Given the description of an element on the screen output the (x, y) to click on. 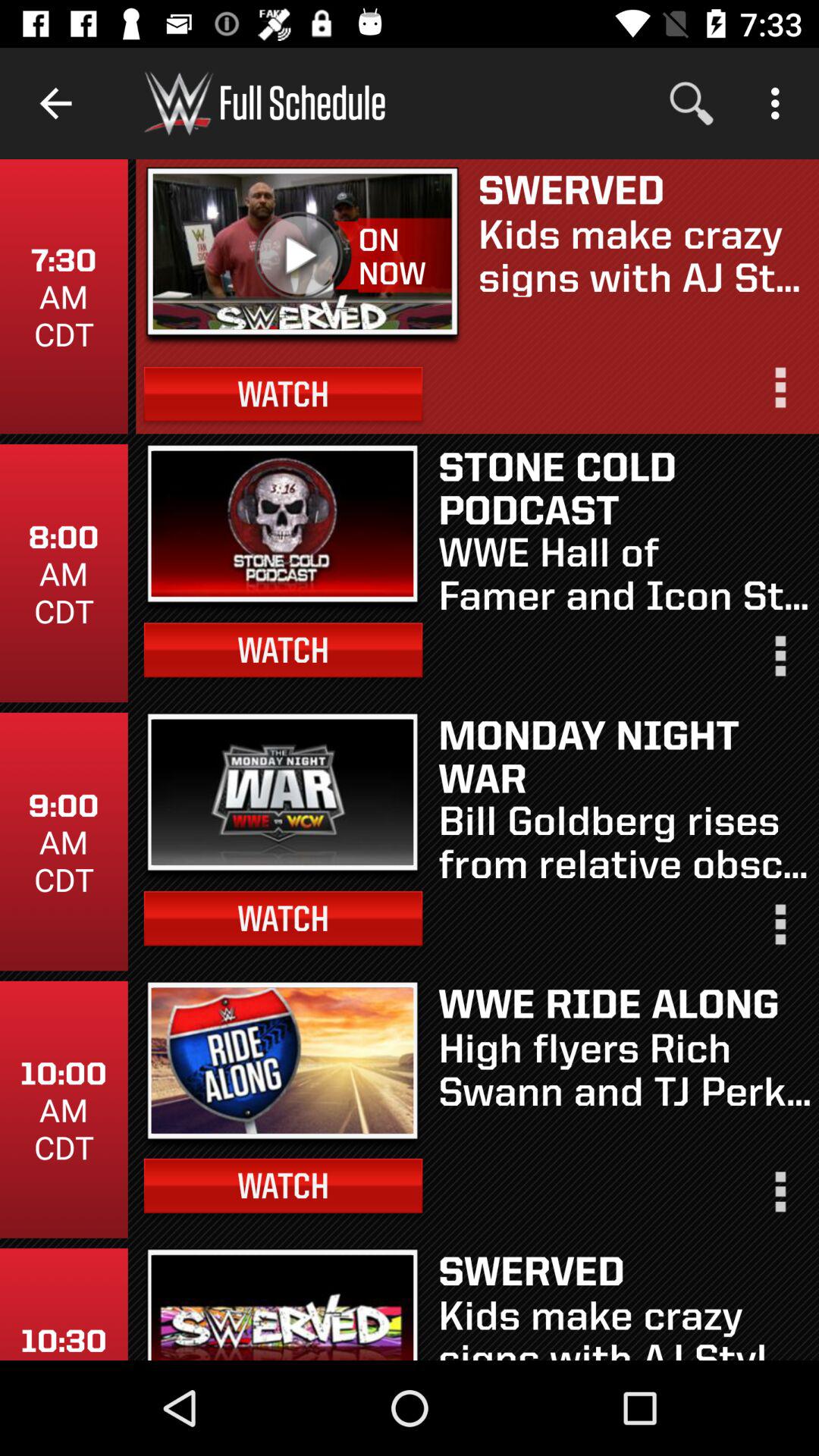
tap the item next to full schedule (691, 103)
